Given the description of an element on the screen output the (x, y) to click on. 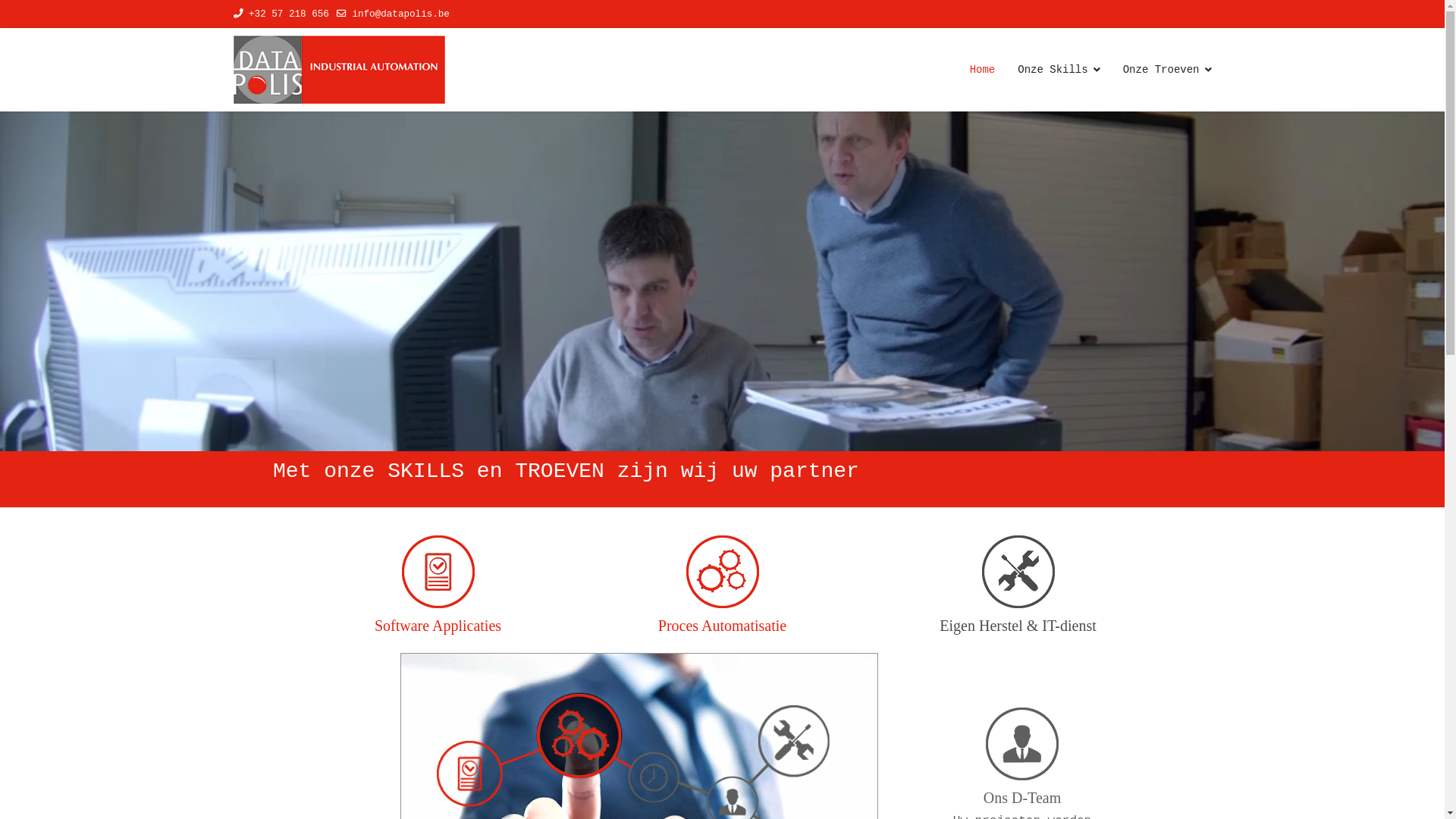
+32 57 218 656 Element type: text (288, 14)
Home Element type: text (982, 69)
Proces Automatisatie Element type: text (722, 625)
Software Applicaties Element type: text (437, 625)
info@datapolis.be Element type: text (399, 14)
Eigen Herstel & IT-dienst Element type: text (1017, 625)
